Given the description of an element on the screen output the (x, y) to click on. 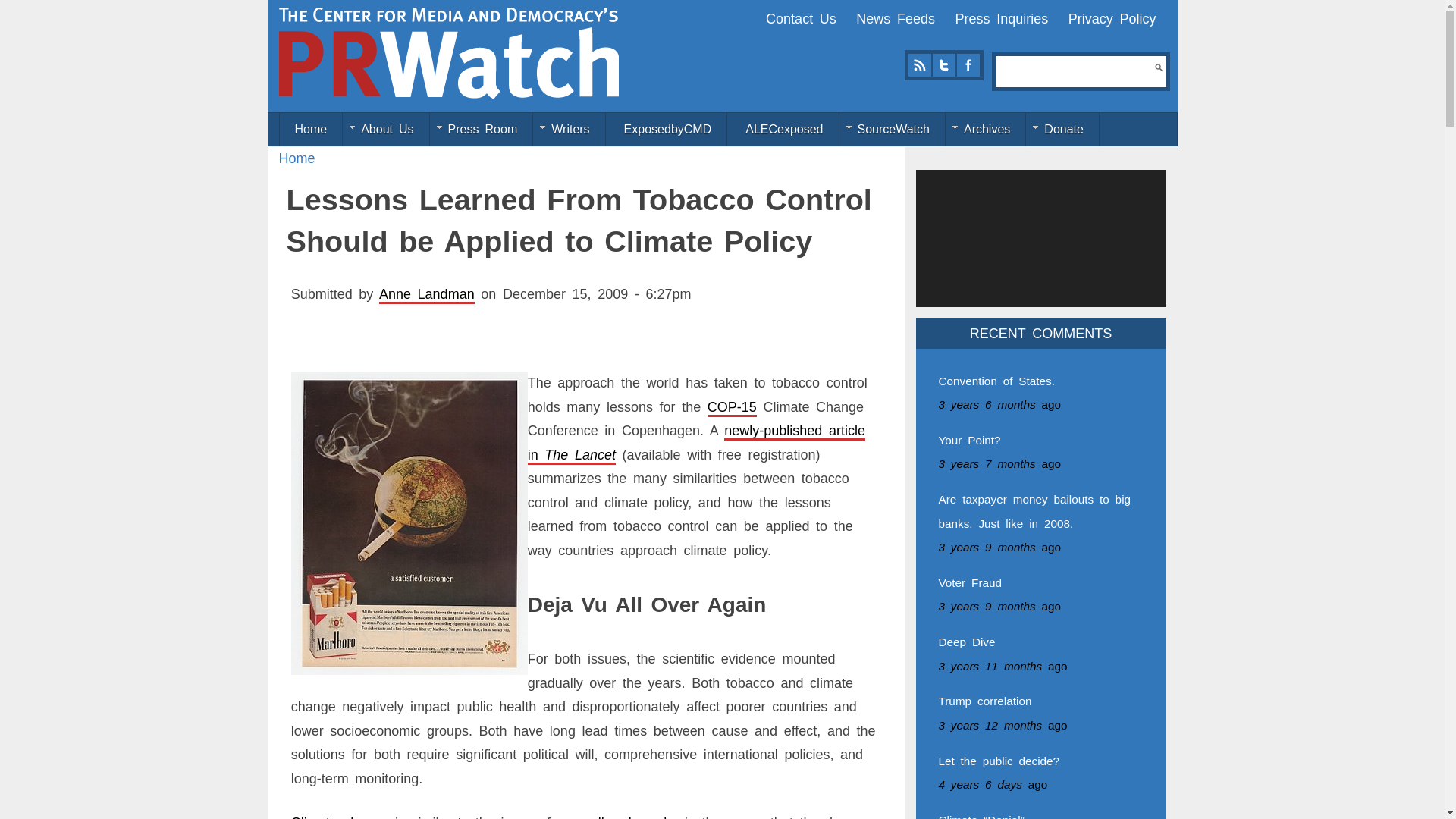
Home (448, 52)
Enter the terms you wish to search for. (1074, 71)
Facebook (967, 64)
RSS (919, 64)
Search (1157, 67)
Search (1157, 67)
View user profile. (426, 294)
Anne Landman (426, 294)
Press Inquiries (1001, 18)
Twitter (943, 64)
Contact Us (800, 18)
newly-published article in The Lancet (695, 442)
Home (297, 158)
News Feeds (895, 18)
Privacy Policy (1112, 18)
